Given the description of an element on the screen output the (x, y) to click on. 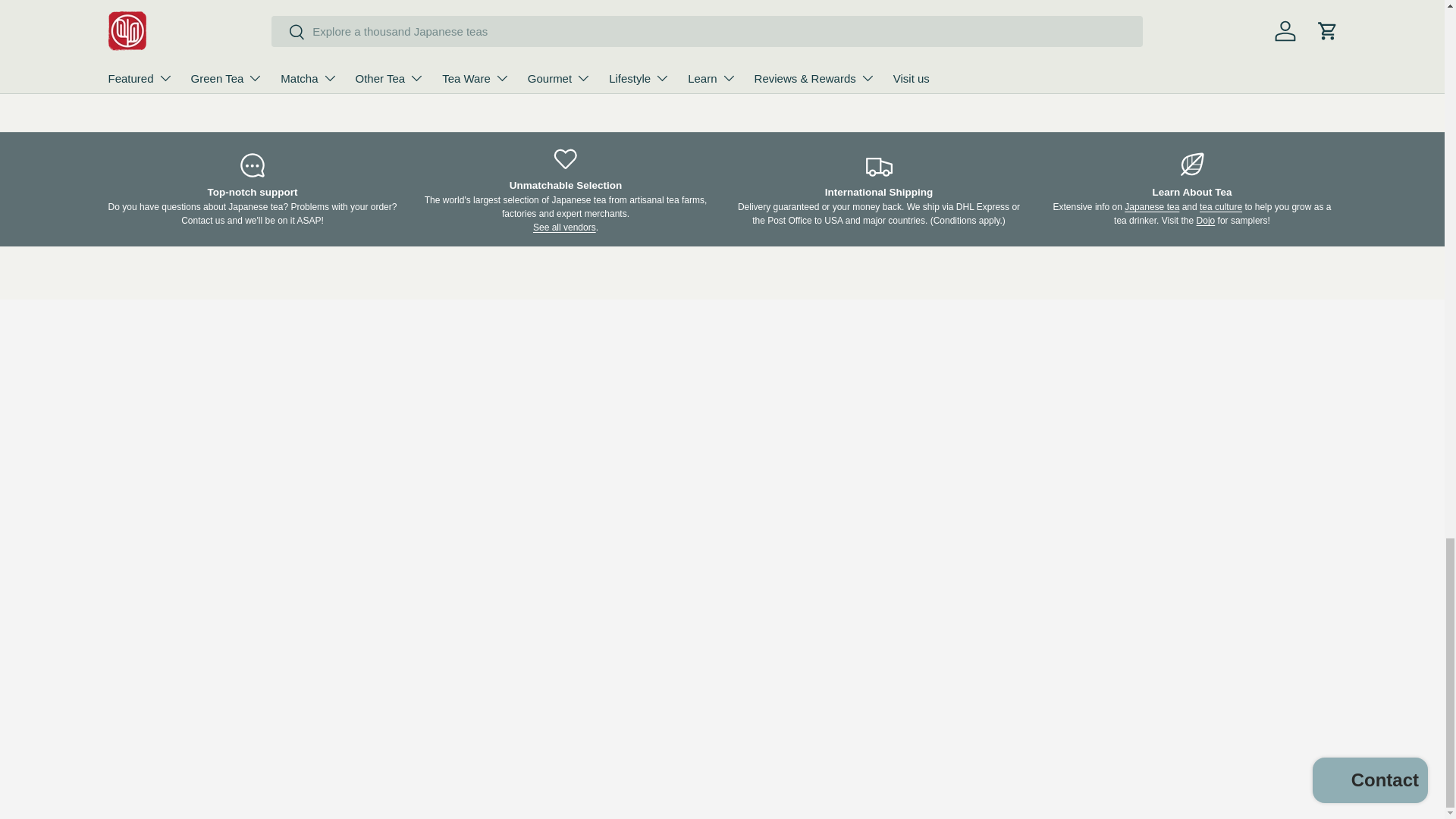
Vendors (563, 226)
Professional's Guide to Japanese Tea (1151, 206)
The Yunomi Dojo (1205, 220)
All About Japanese Tea Culture (1220, 206)
